Given the description of an element on the screen output the (x, y) to click on. 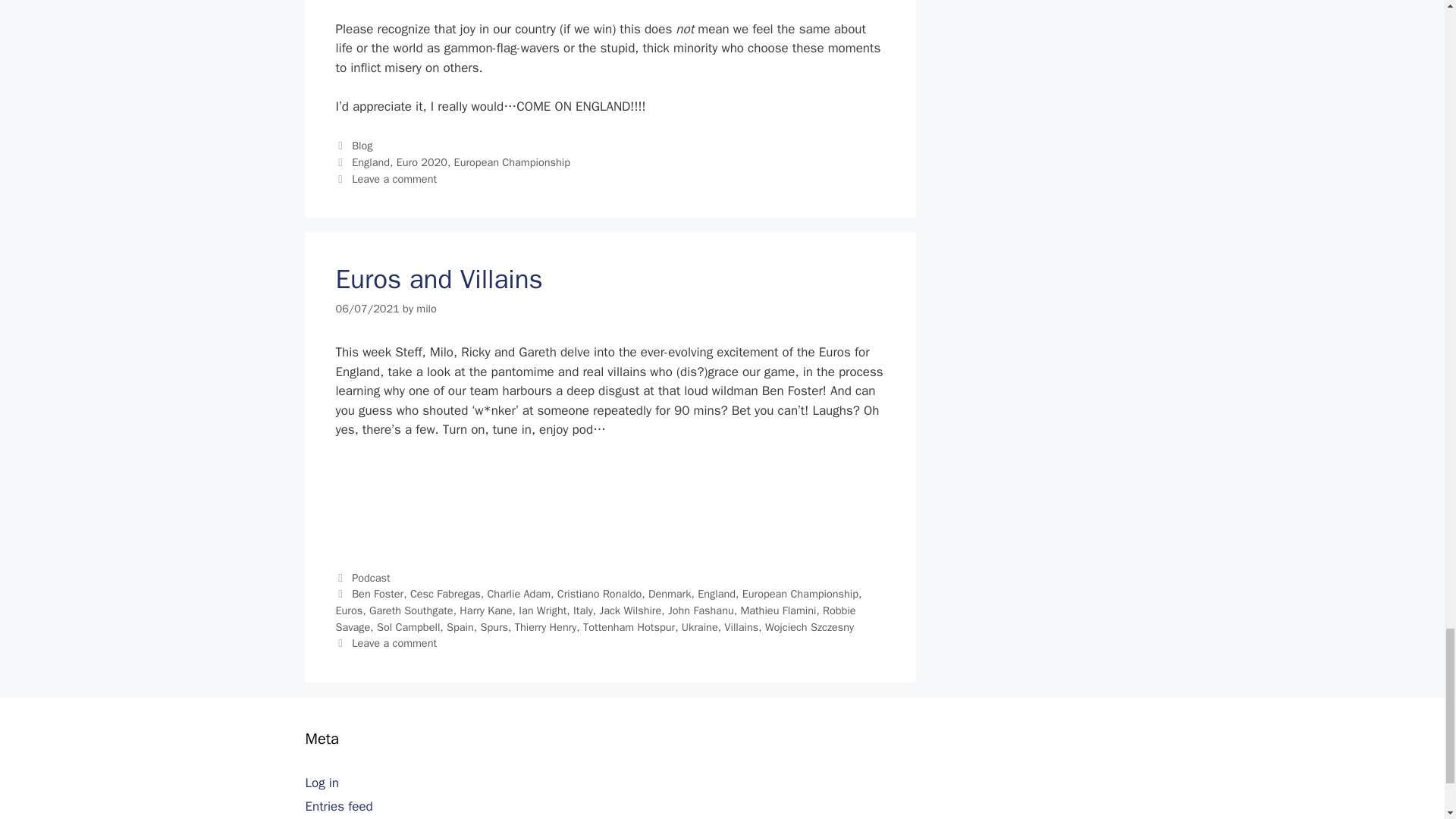
European Championship (512, 161)
Jack Wilshire (629, 610)
View all posts by milo (426, 308)
Gareth Southgate (410, 610)
Ben Foster (377, 593)
Cristiano Ronaldo (599, 593)
Leave a comment (394, 178)
Denmark (669, 593)
Harry Kane (486, 610)
England (716, 593)
Euros and Villains (437, 278)
England (371, 161)
John Fashanu (700, 610)
Podcast (371, 577)
Blog (362, 145)
